Given the description of an element on the screen output the (x, y) to click on. 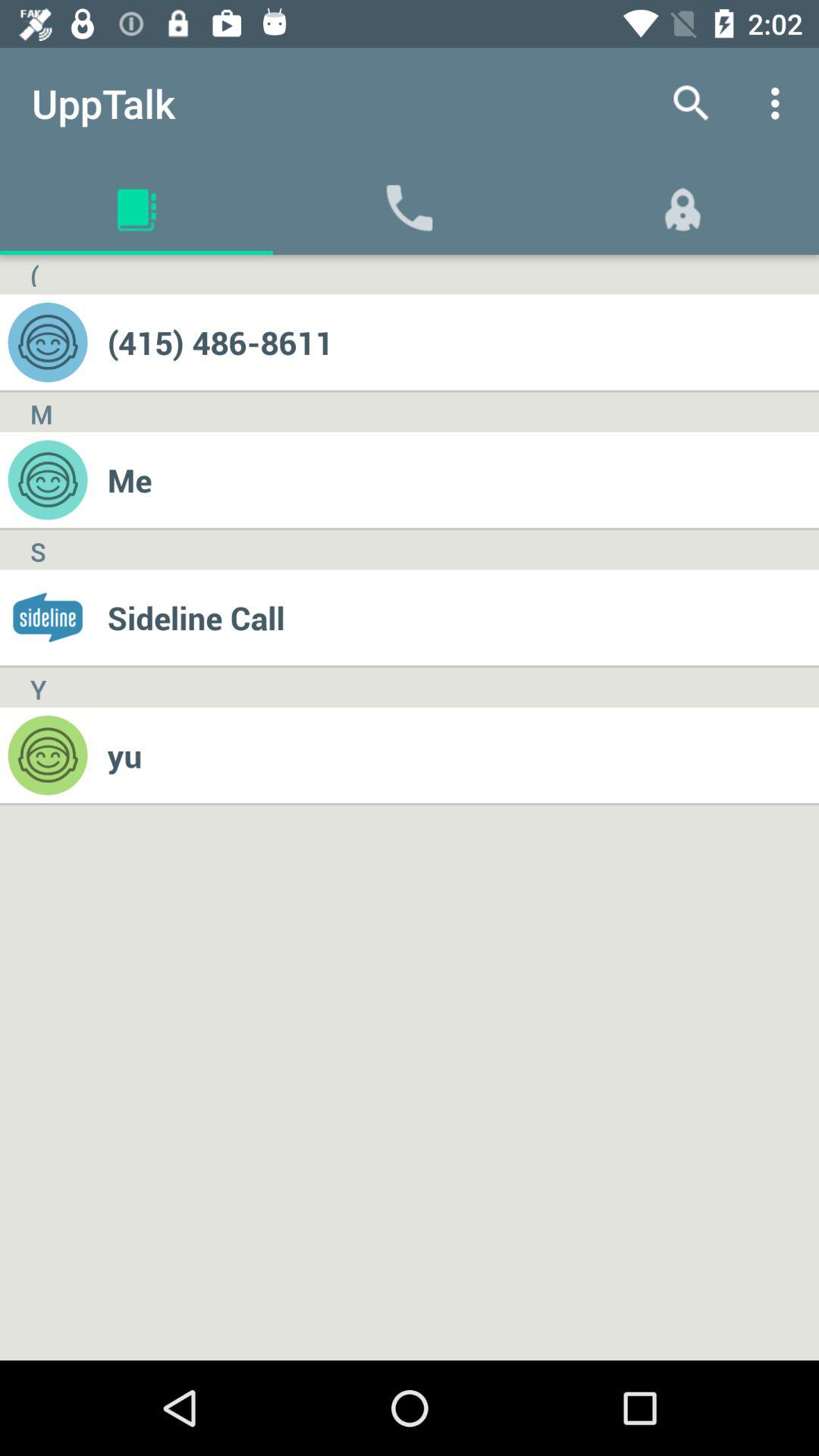
click ( (34, 274)
